Given the description of an element on the screen output the (x, y) to click on. 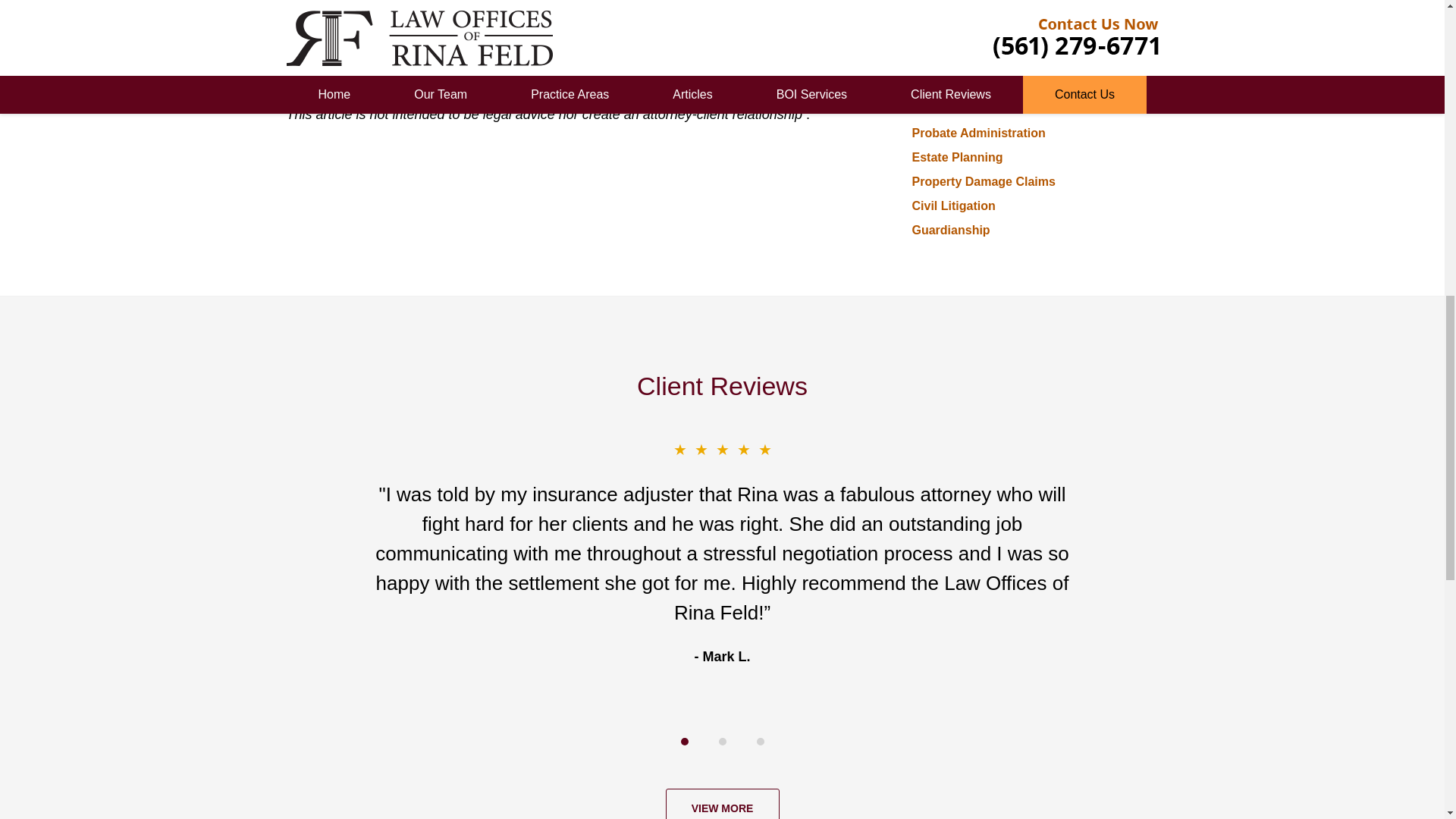
CONTACT US NOW (1024, 16)
Civil Litigation (952, 205)
Probate Administration (978, 132)
Practice Areas (960, 97)
Estate Planning (957, 156)
Property Damage Claims (982, 181)
VIEW MORE (721, 803)
Guardianship (950, 229)
